Given the description of an element on the screen output the (x, y) to click on. 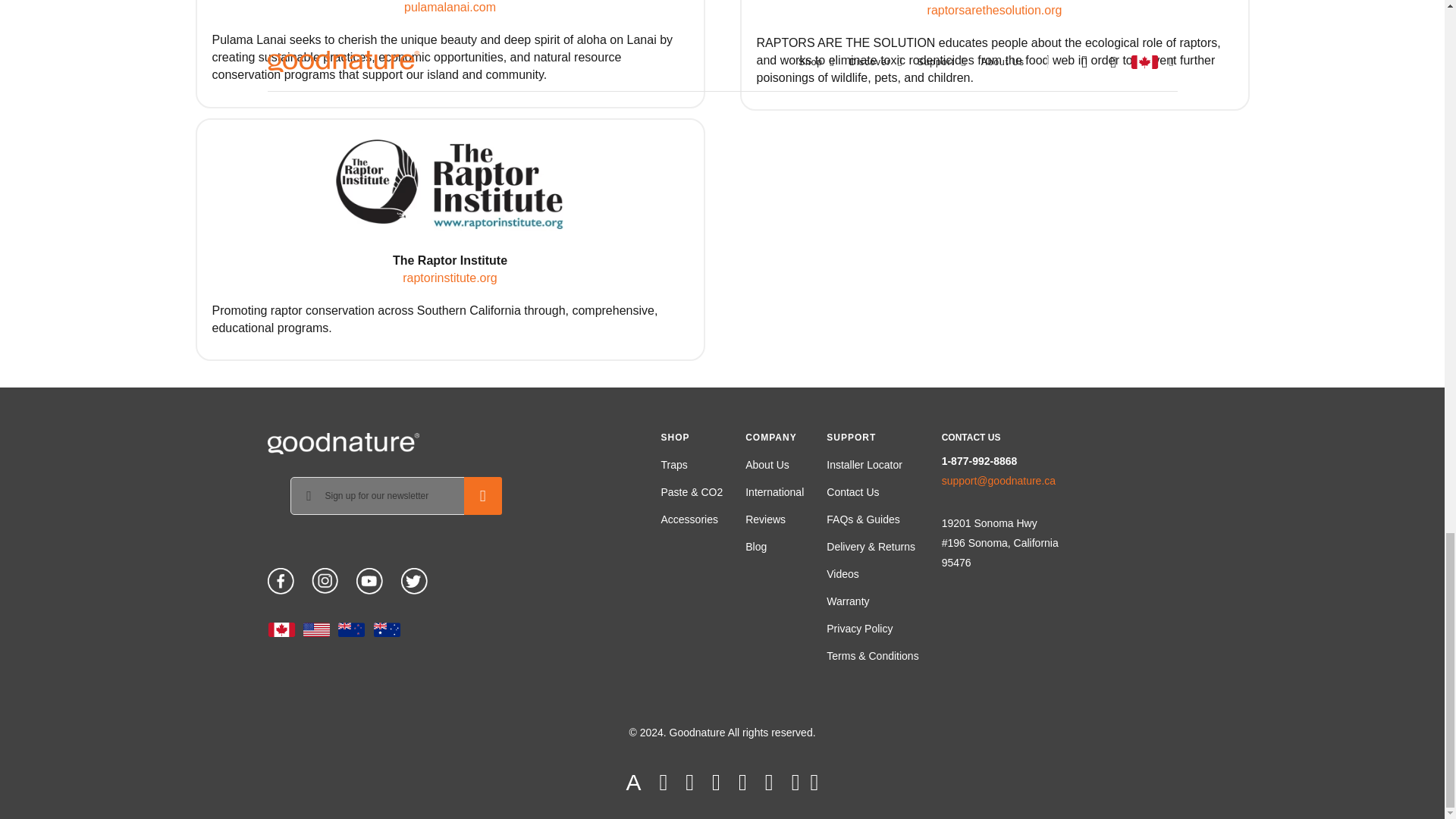
Subscribe (483, 495)
Twitter (414, 577)
Opens window for sending email (998, 480)
Instagram (324, 577)
Facebook (280, 577)
Youtube (369, 577)
